Given the description of an element on the screen output the (x, y) to click on. 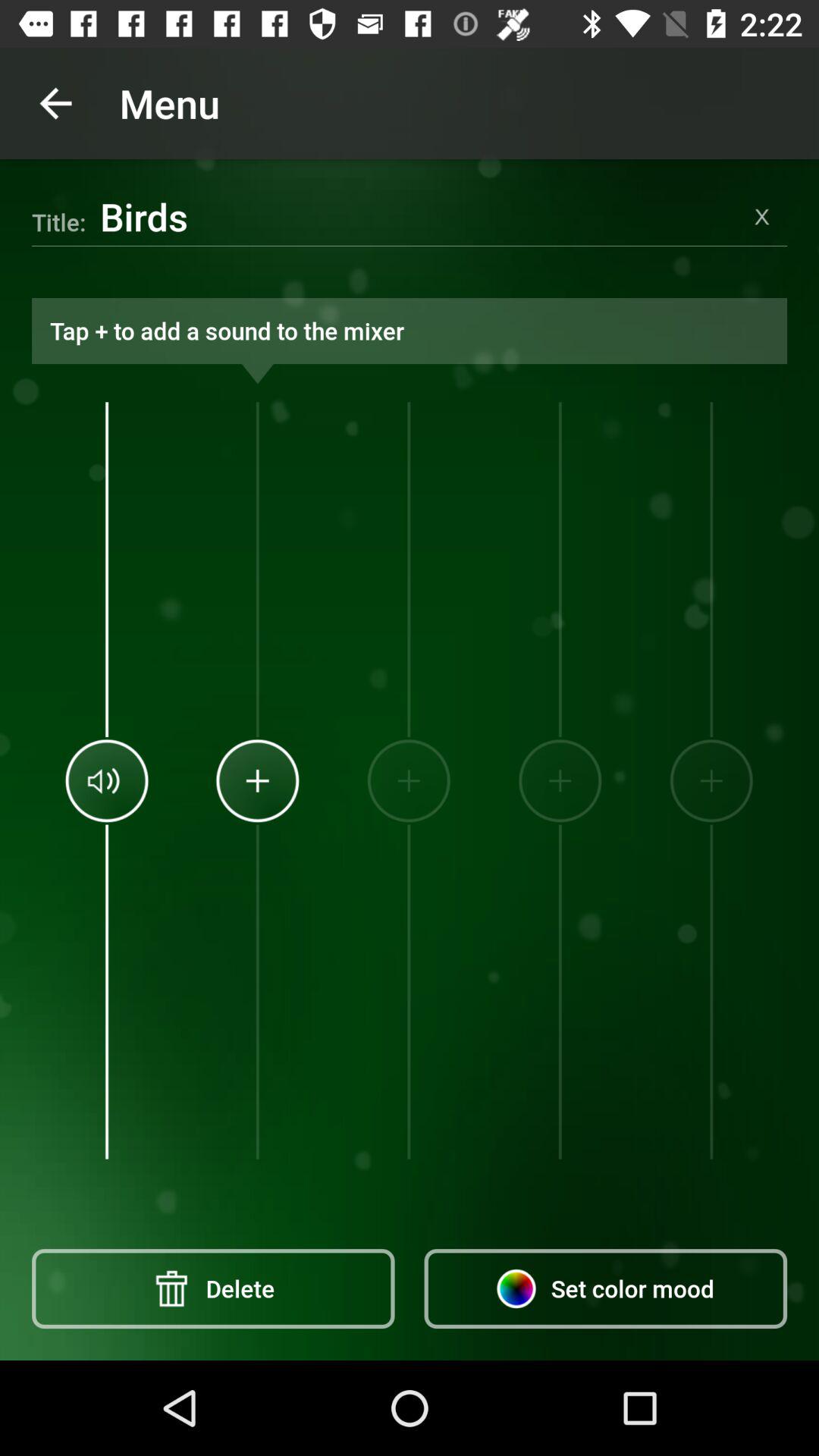
choose the item above set color mood icon (560, 780)
